Given the description of an element on the screen output the (x, y) to click on. 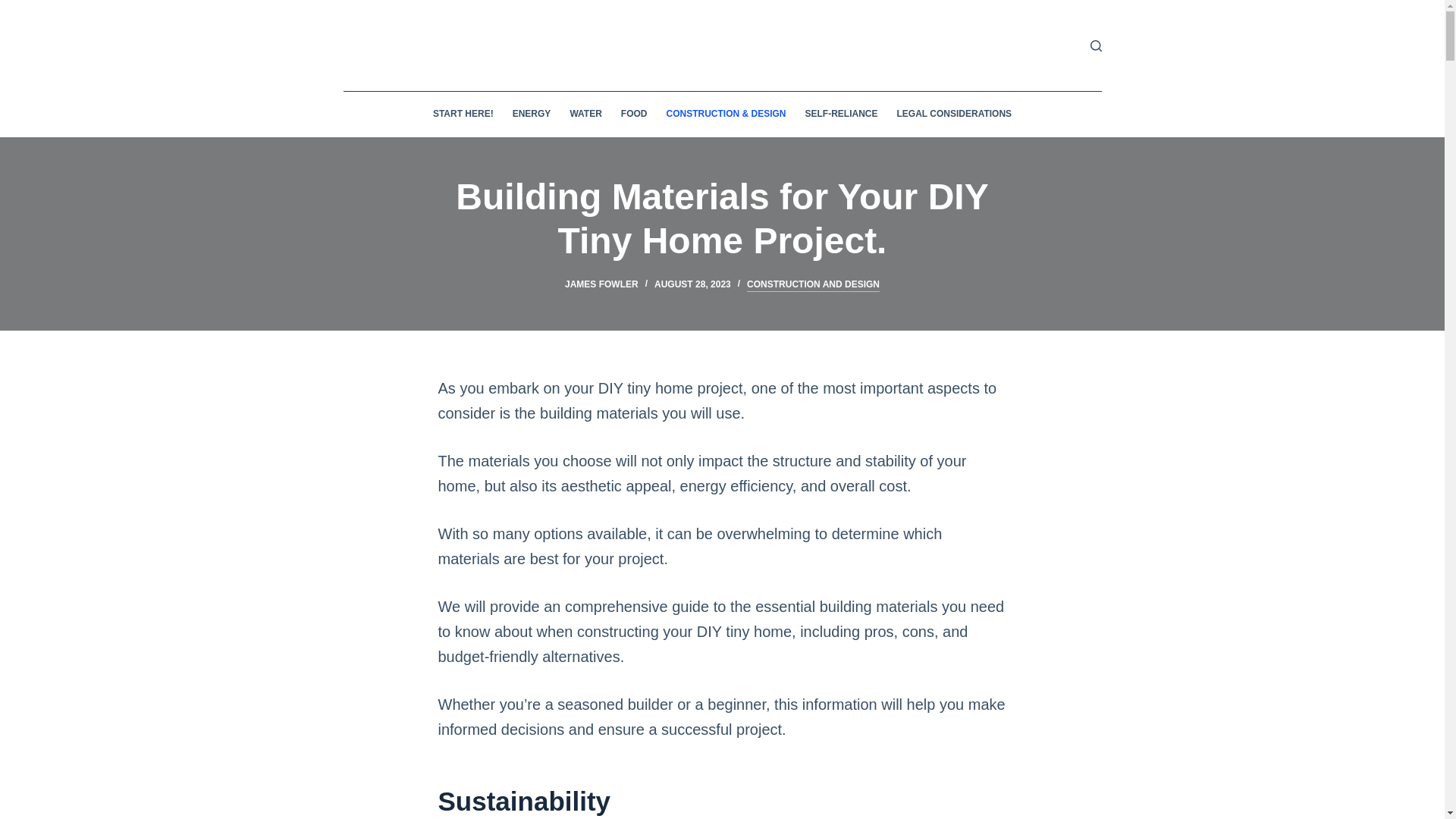
ENERGY (531, 114)
START HERE! (462, 114)
LEGAL CONSIDERATIONS (954, 114)
FOOD (633, 114)
Skip to content (15, 7)
CONSTRUCTION AND DESIGN (812, 285)
Building Materials for Your DIY Tiny Home Project. (722, 218)
WATER (585, 114)
SELF-RELIANCE (840, 114)
JAMES FOWLER (601, 284)
